Given the description of an element on the screen output the (x, y) to click on. 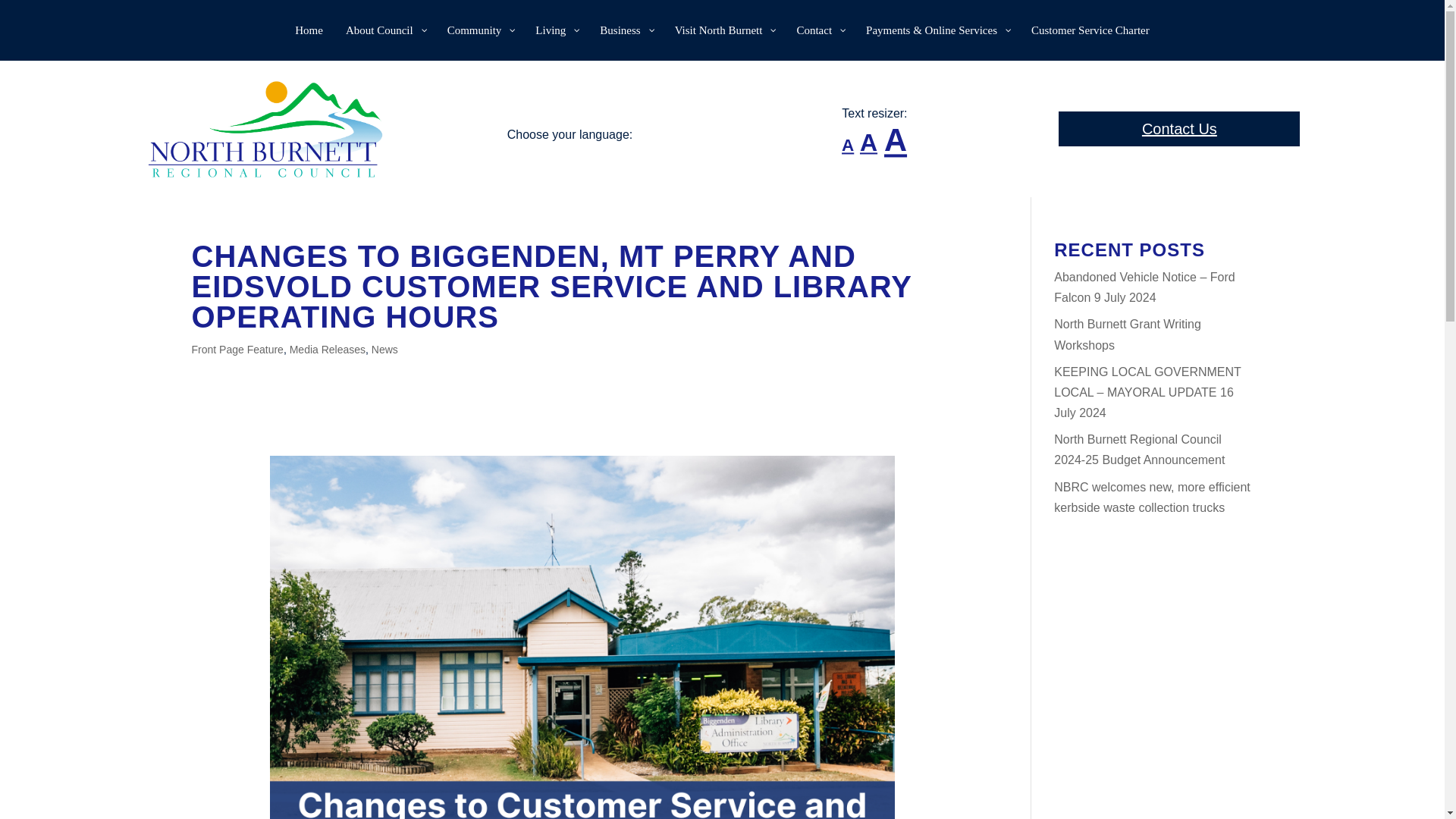
Reset font size (864, 136)
Community (479, 30)
NBRC-rgb (264, 128)
Home (308, 30)
Increase font size (889, 131)
Decrease font size (844, 140)
About Council (384, 30)
